Given the description of an element on the screen output the (x, y) to click on. 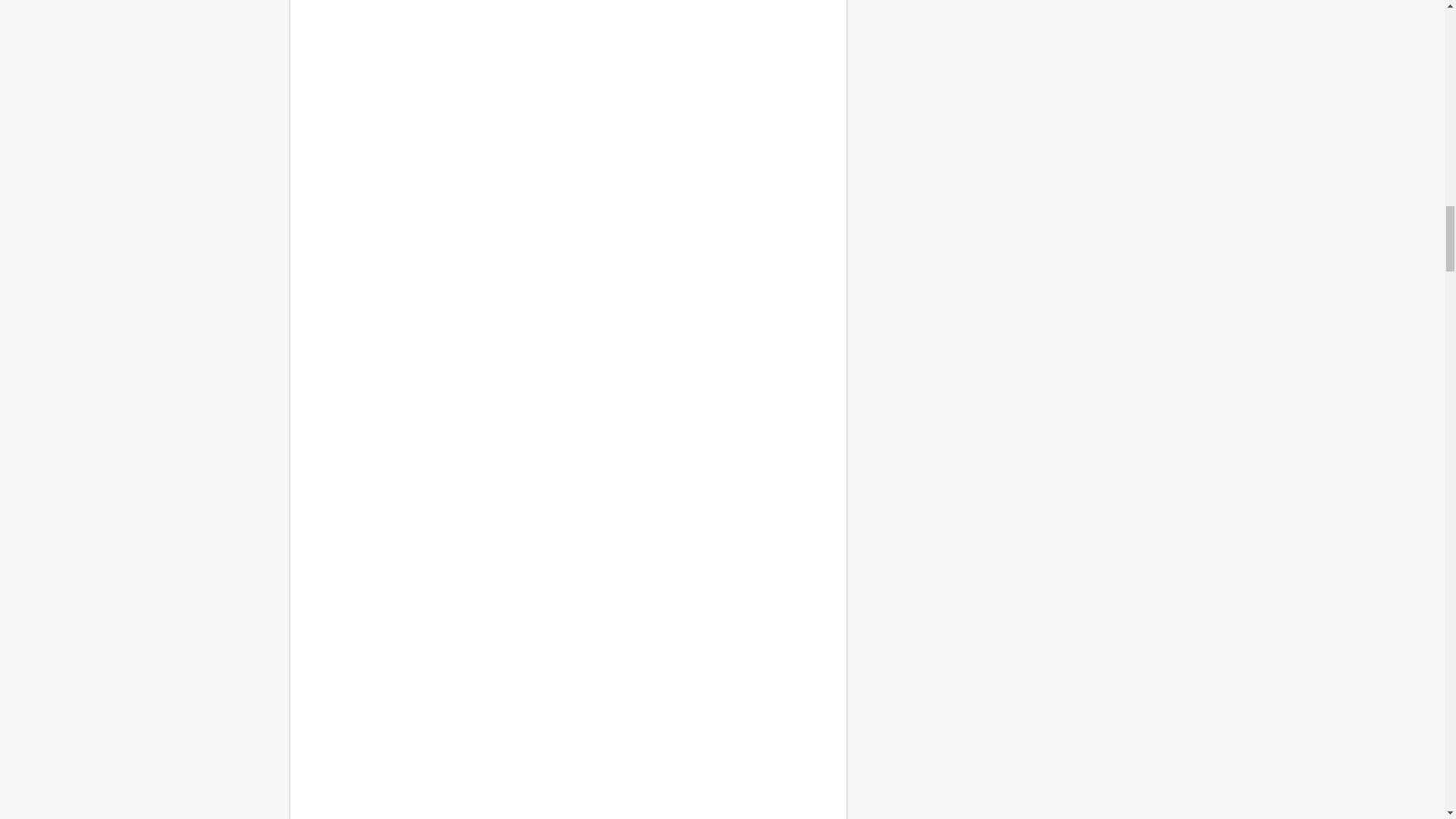
form of verbs (567, 535)
